Given the description of an element on the screen output the (x, y) to click on. 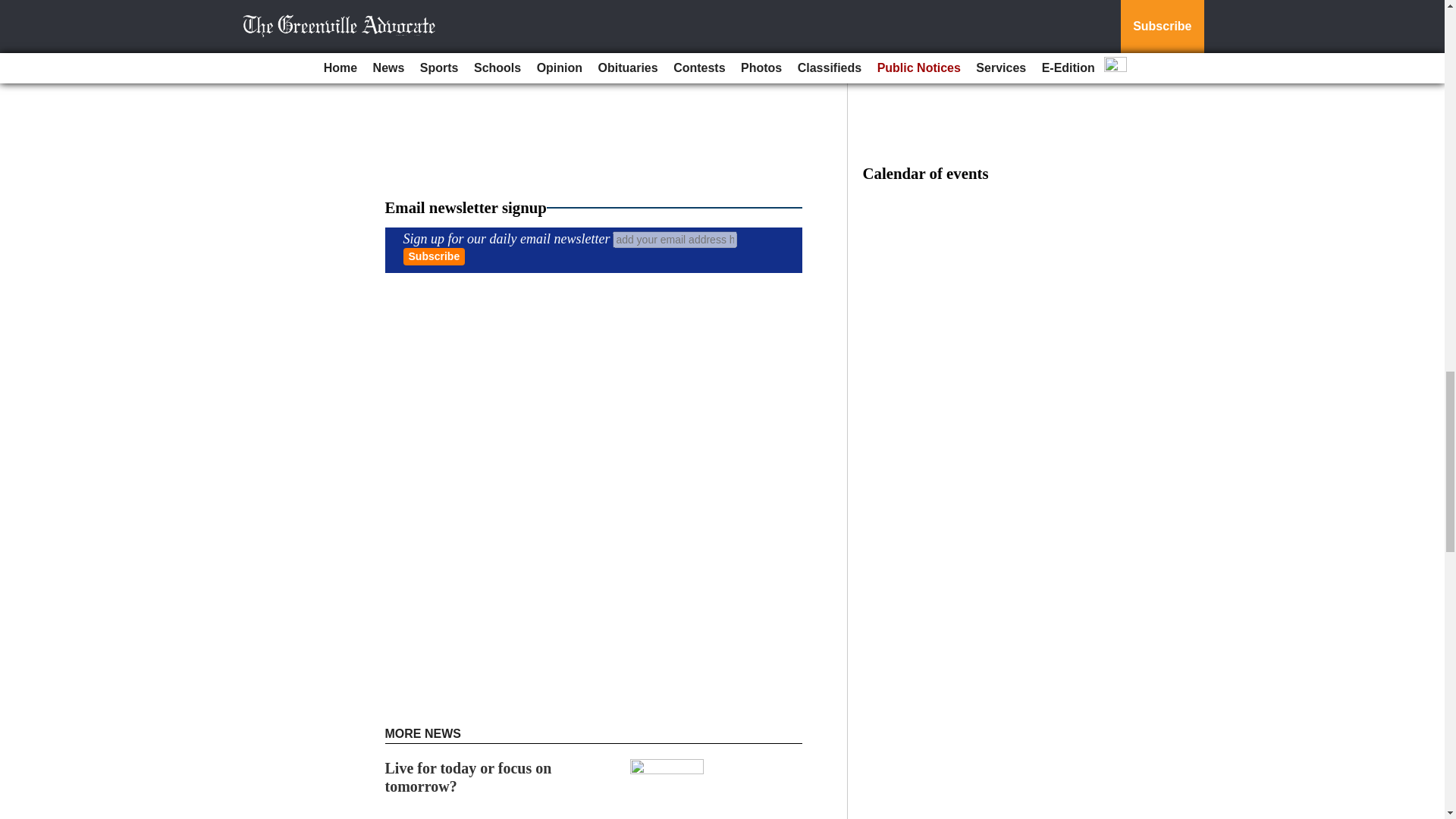
Live for today or focus on tomorrow? (468, 777)
Subscribe (434, 256)
Subscribe (434, 256)
Live for today or focus on tomorrow? (468, 777)
